Given the description of an element on the screen output the (x, y) to click on. 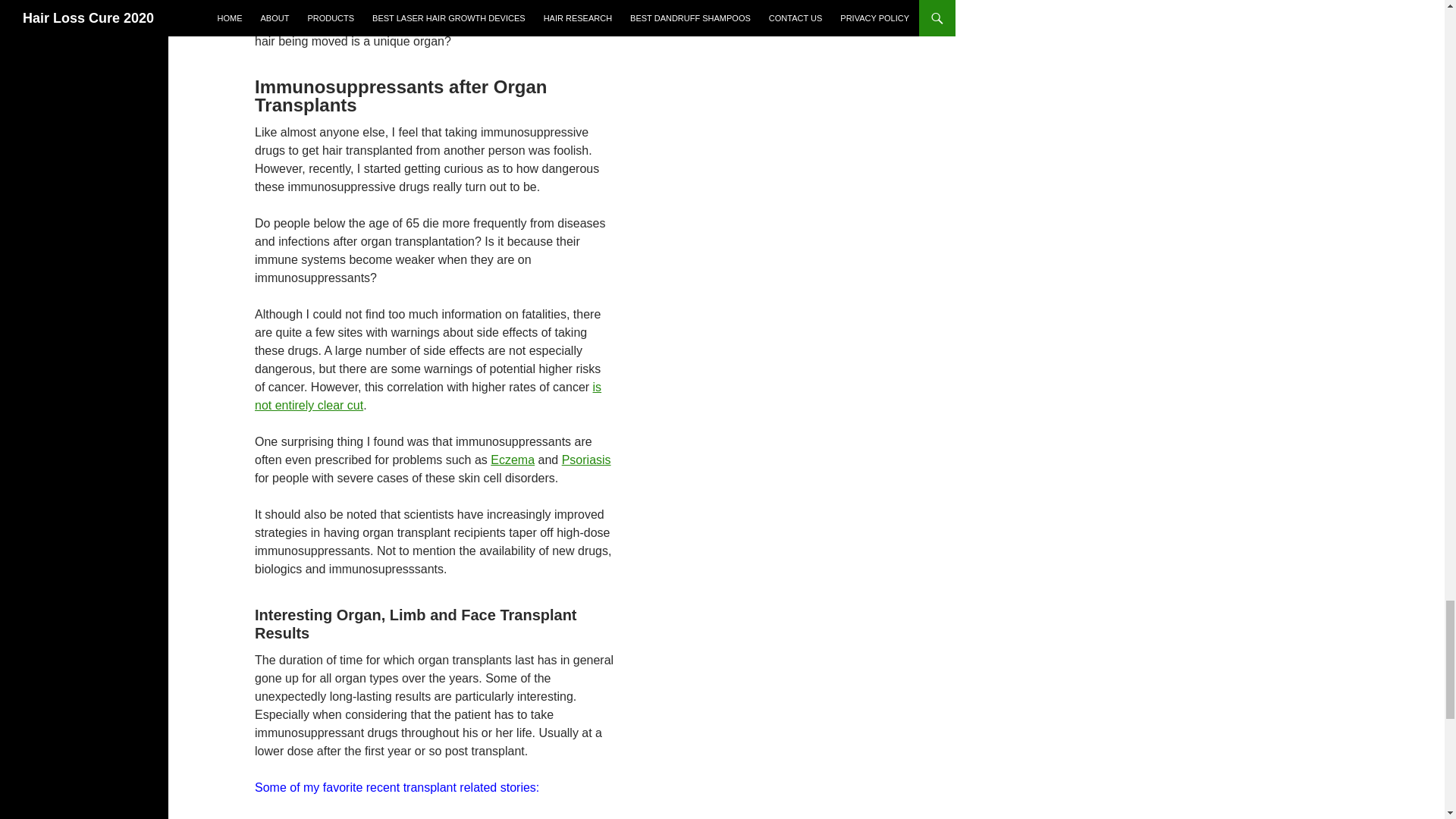
Psoriasis and Immunosupressants (586, 459)
Eczema and Immunosuppressants (512, 459)
